Given the description of an element on the screen output the (x, y) to click on. 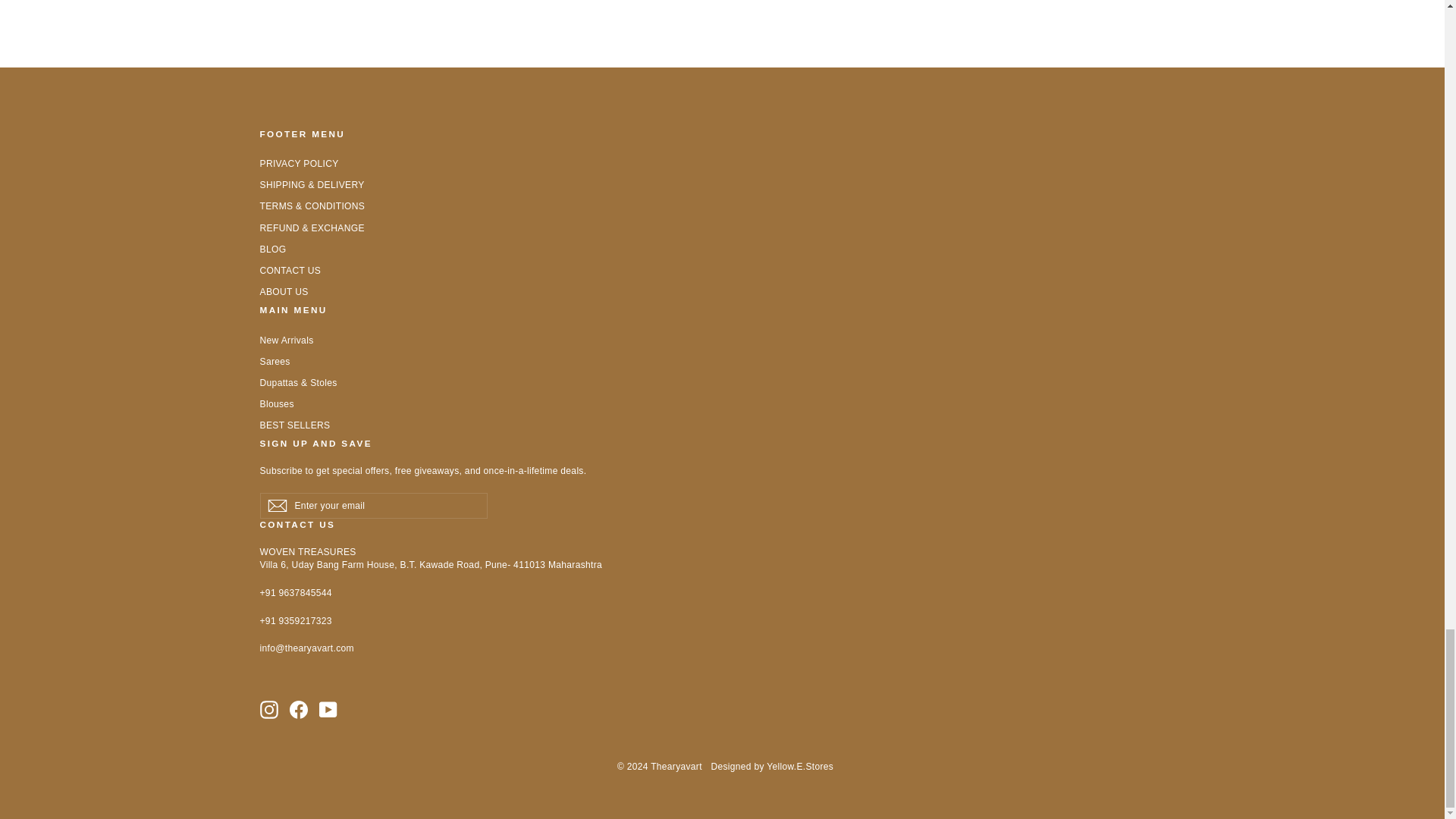
YELLOWESTORES (799, 766)
Thearyavart on Facebook (298, 710)
Thearyavart on Instagram (268, 710)
Thearyavart on YouTube (327, 710)
